Given the description of an element on the screen output the (x, y) to click on. 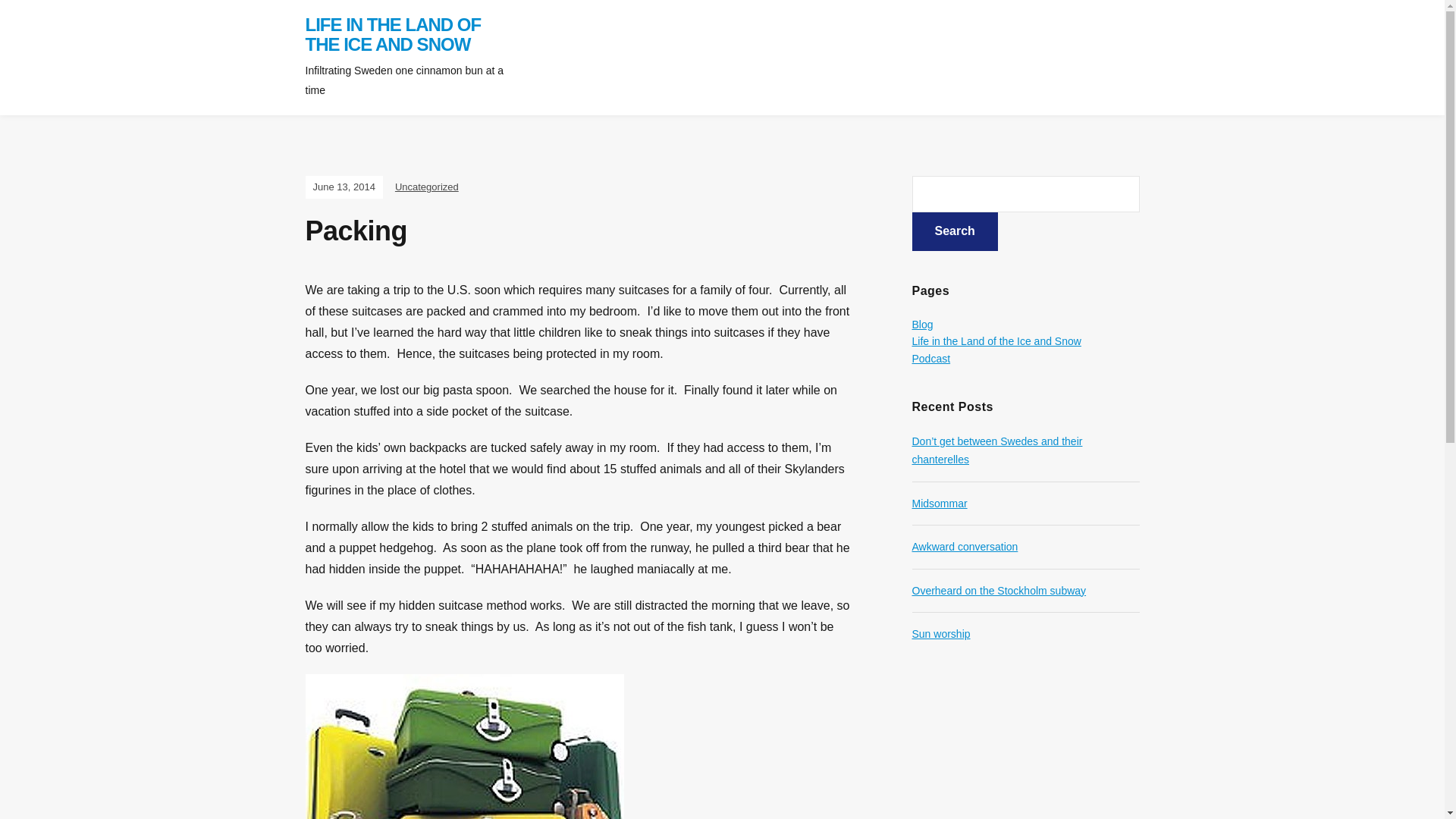
Search (954, 231)
Search (954, 231)
Sun worship (940, 633)
Life in the Land of the Ice and Snow (995, 340)
Midsommar (938, 503)
Podcast (930, 358)
Overheard on the Stockholm subway (998, 590)
LIFE IN THE LAND OF THE ICE AND SNOW (392, 34)
Blog (922, 324)
Awkward conversation (964, 546)
Uncategorized (426, 186)
